Given the description of an element on the screen output the (x, y) to click on. 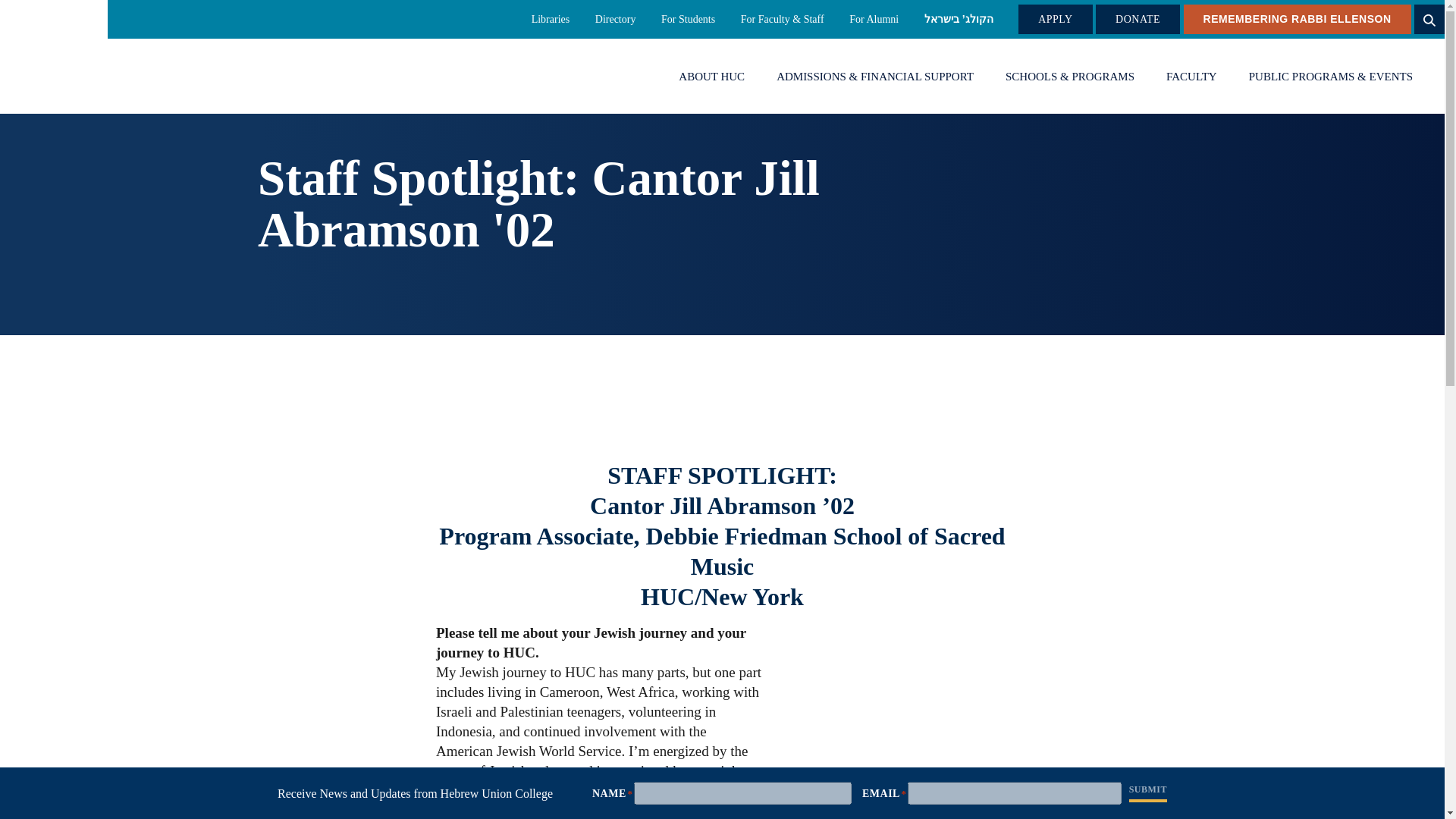
For Students (687, 19)
Libraries (550, 19)
ABOUT HUC (711, 76)
For Alumni (873, 19)
APPLY (1054, 19)
DONATE (1137, 19)
REMEMBERING RABBI ELLENSON (1296, 19)
Submit (1148, 790)
Directory (615, 19)
